Given the description of an element on the screen output the (x, y) to click on. 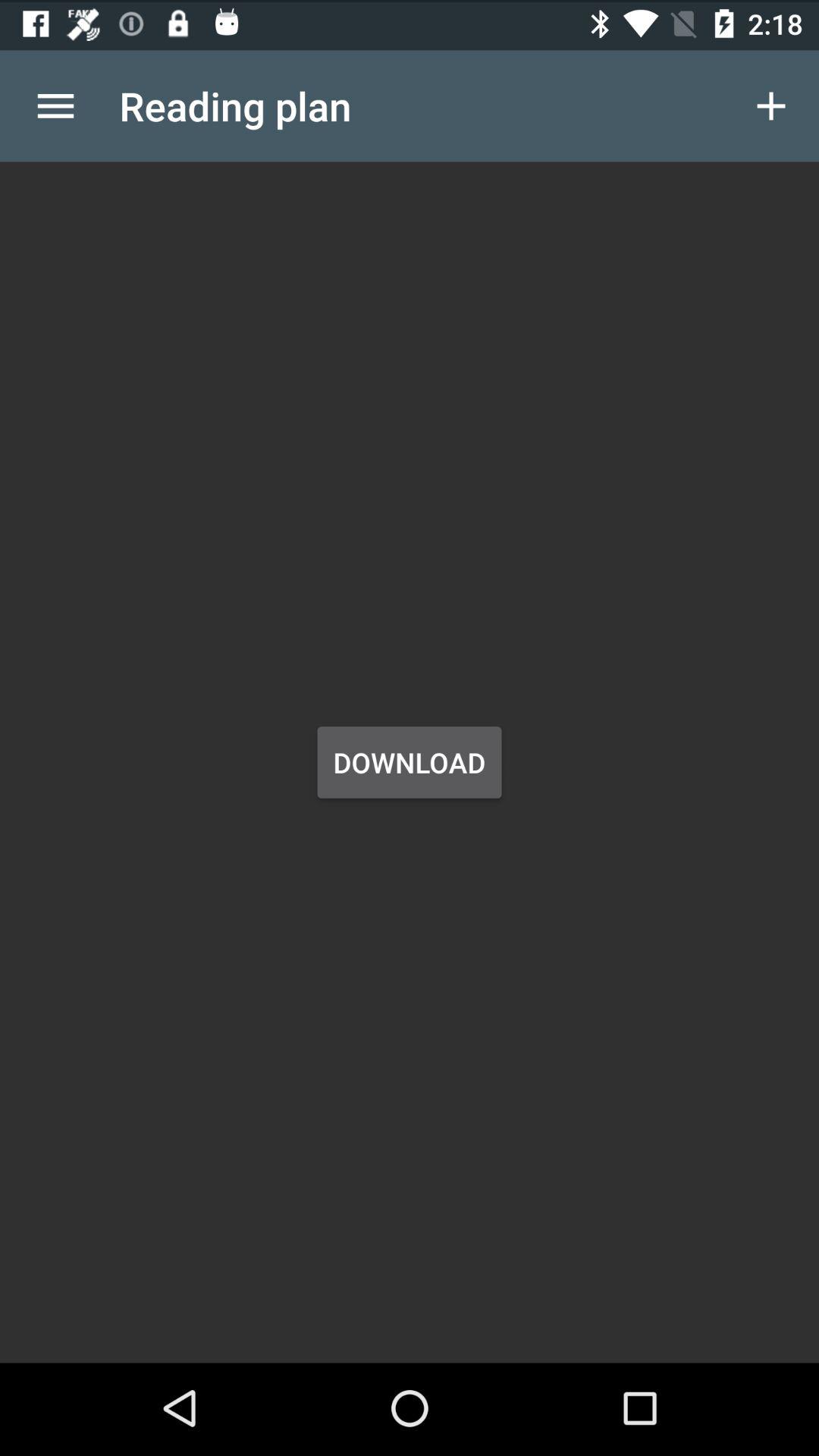
turn on app to the left of the reading plan item (55, 103)
